Given the description of an element on the screen output the (x, y) to click on. 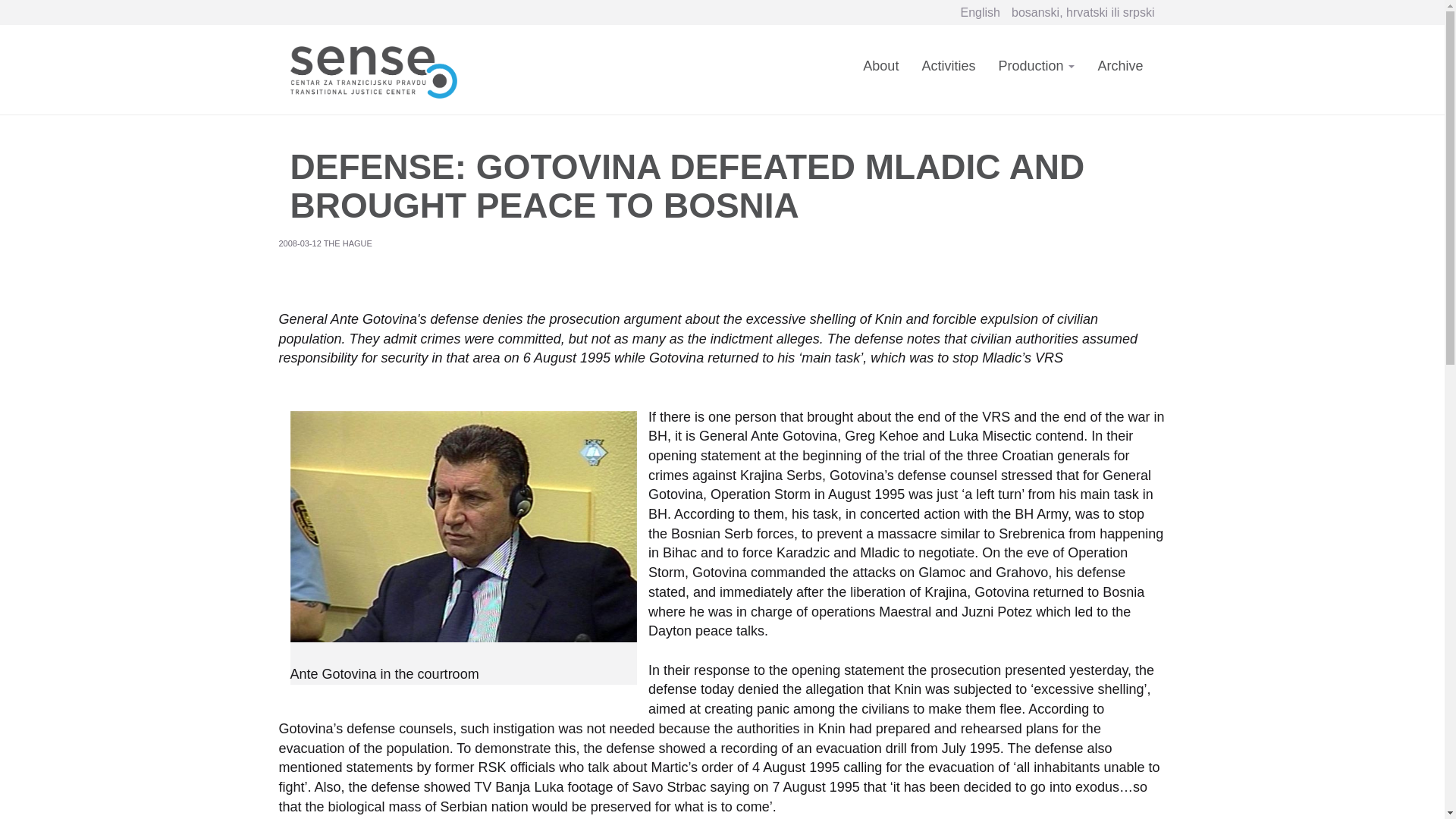
Activities (948, 75)
English (980, 11)
Production (1036, 75)
Ante Gotovina in the courtroom (463, 526)
Home (378, 69)
bosanski, hrvatski ili srpski (1082, 11)
